Given the description of an element on the screen output the (x, y) to click on. 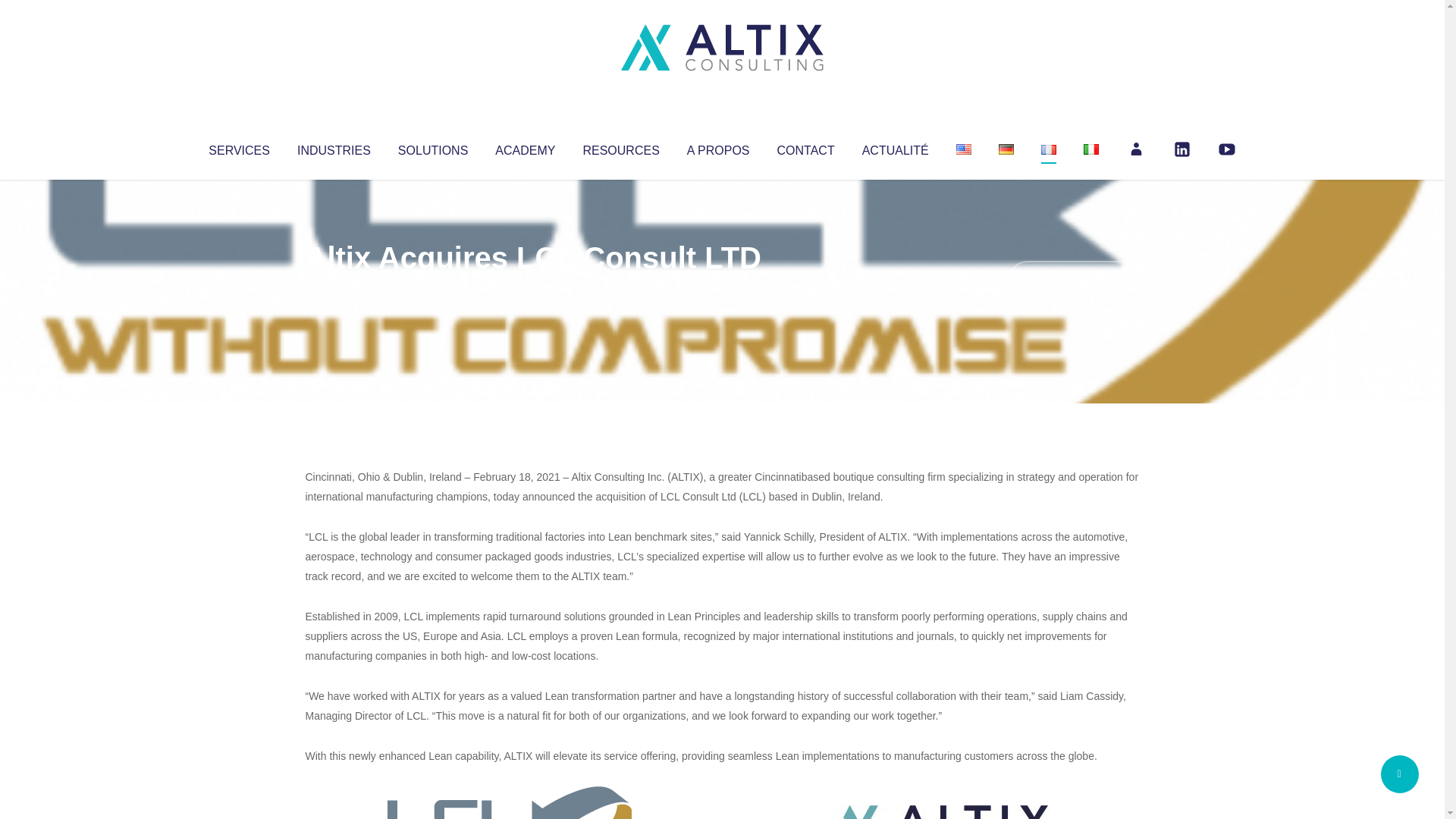
SOLUTIONS (432, 146)
RESOURCES (620, 146)
ACADEMY (524, 146)
A PROPOS (718, 146)
SERVICES (238, 146)
Articles par Altix (333, 287)
Altix (333, 287)
Uncategorized (530, 287)
No Comments (1073, 278)
INDUSTRIES (334, 146)
